Given the description of an element on the screen output the (x, y) to click on. 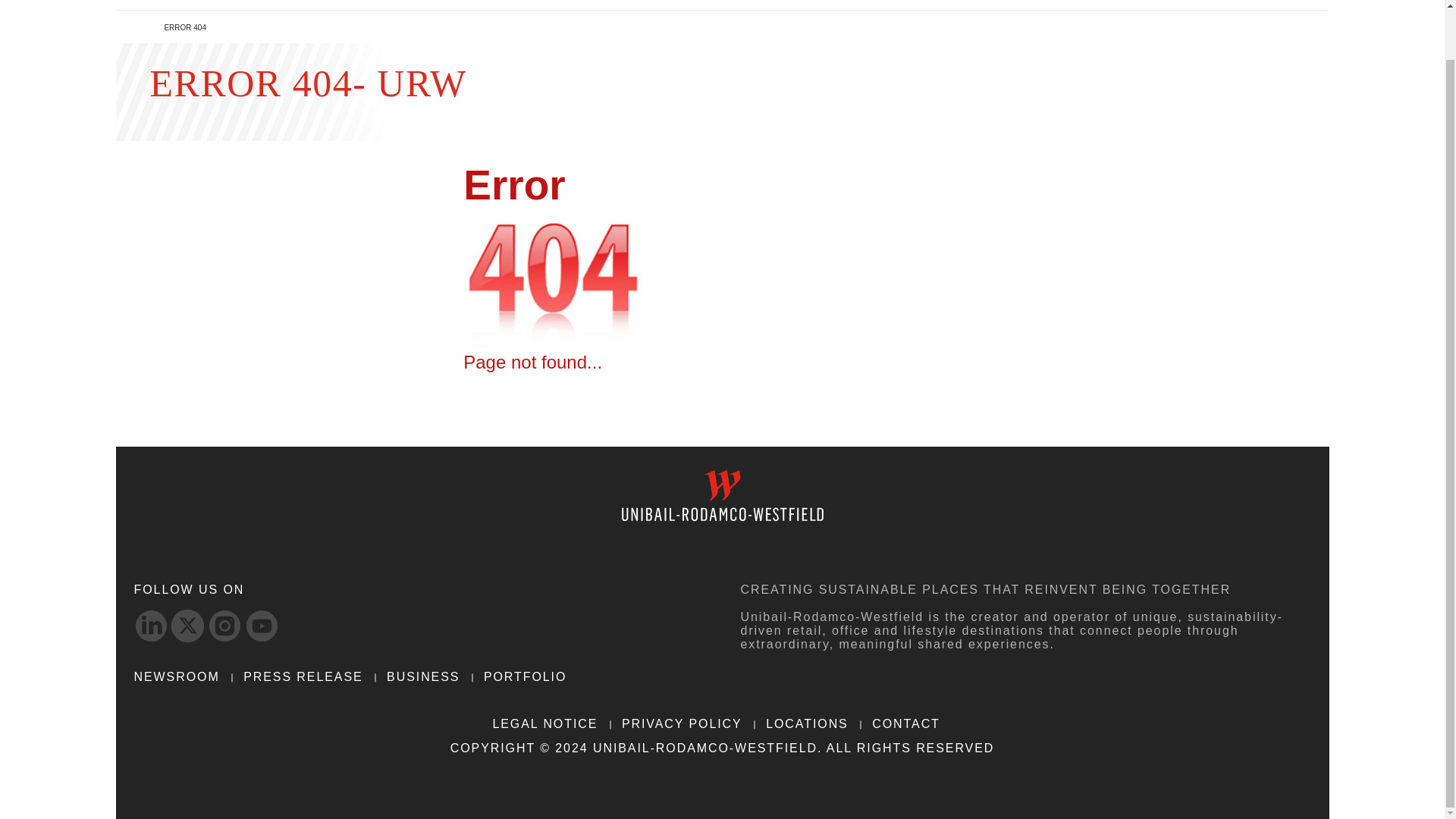
PORTFOLIO (474, 15)
Group (375, 15)
BUSINESS (585, 15)
Portfolio (474, 15)
URW (235, 4)
INVESTORS (694, 15)
Investors (694, 15)
Business (585, 15)
GROUP (375, 15)
JOIN US (952, 15)
SUSTAINABILITY (830, 15)
